Given the description of an element on the screen output the (x, y) to click on. 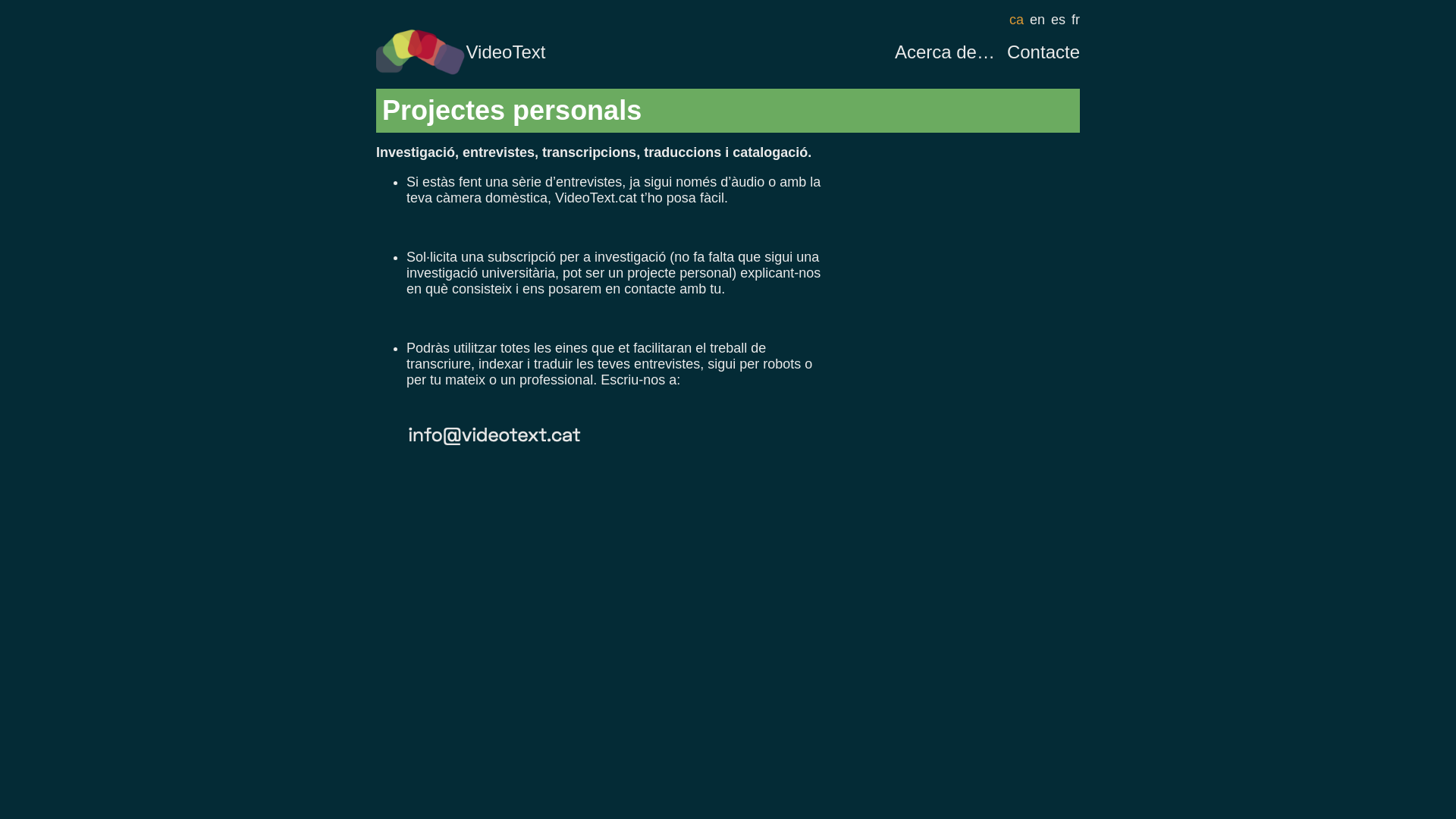
en Element type: text (1036, 19)
es Element type: text (1058, 19)
fr Element type: text (1075, 19)
VideoText Element type: text (460, 52)
Contacte Element type: text (1043, 51)
ca Element type: text (1016, 19)
